Given the description of an element on the screen output the (x, y) to click on. 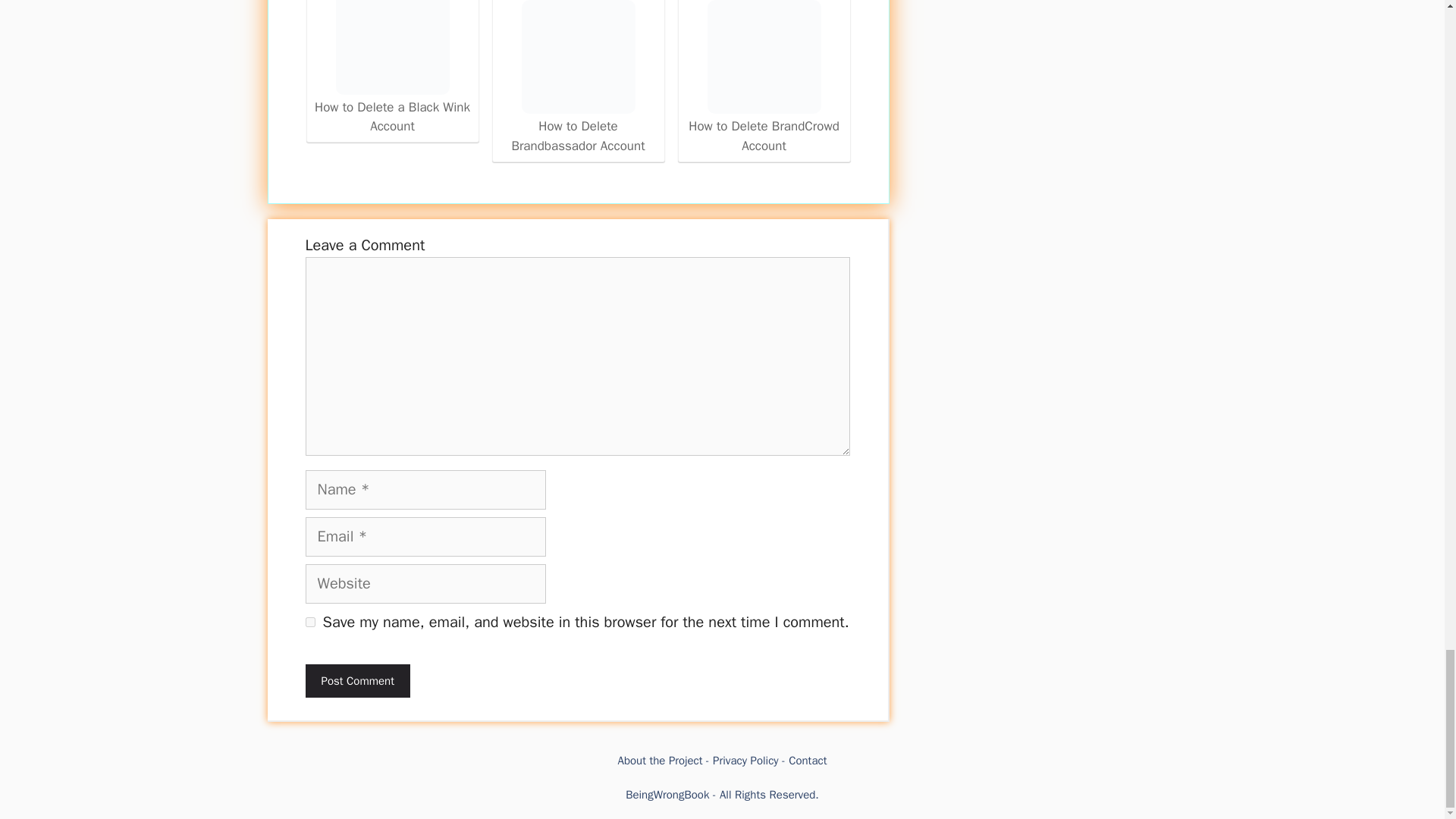
How to Delete a Black Wink Account (391, 47)
Post Comment (356, 681)
How to Delete BrandCrowd Account (764, 77)
How to Delete Brandbassador Account (578, 78)
yes (309, 622)
Post Comment (356, 681)
How to Delete a Black Wink Account (392, 69)
